Given the description of an element on the screen output the (x, y) to click on. 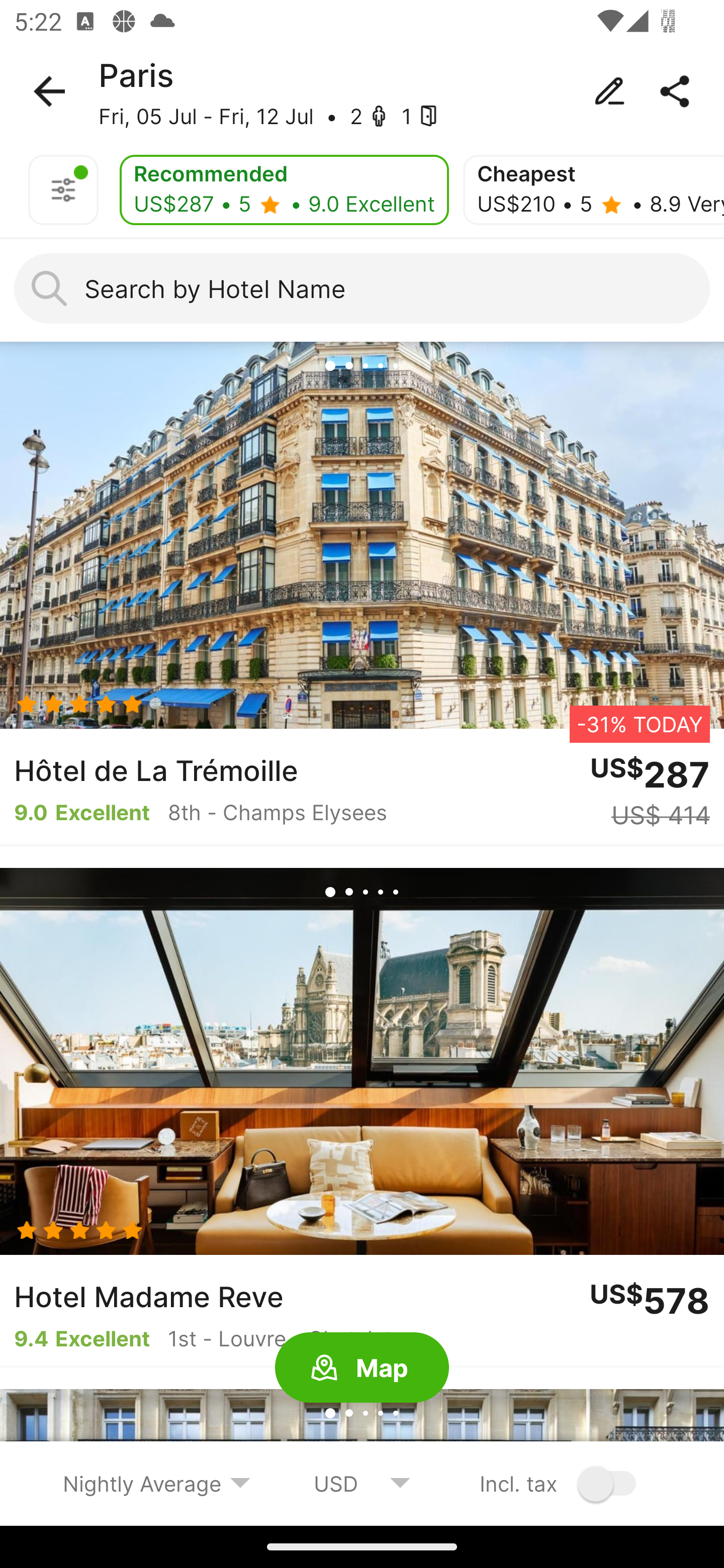
Paris Fri, 05 Jul - Fri, 12 Jul  •  2 -  1 - (361, 91)
Recommended  US$287  • 5 - • 9.0 Excellent (283, 190)
Cheapest US$210  • 5 - • 8.9 Very Good (593, 190)
Search by Hotel Name  (361, 288)
Map  (361, 1367)
Nightly Average (156, 1482)
USD (361, 1482)
